Given the description of an element on the screen output the (x, y) to click on. 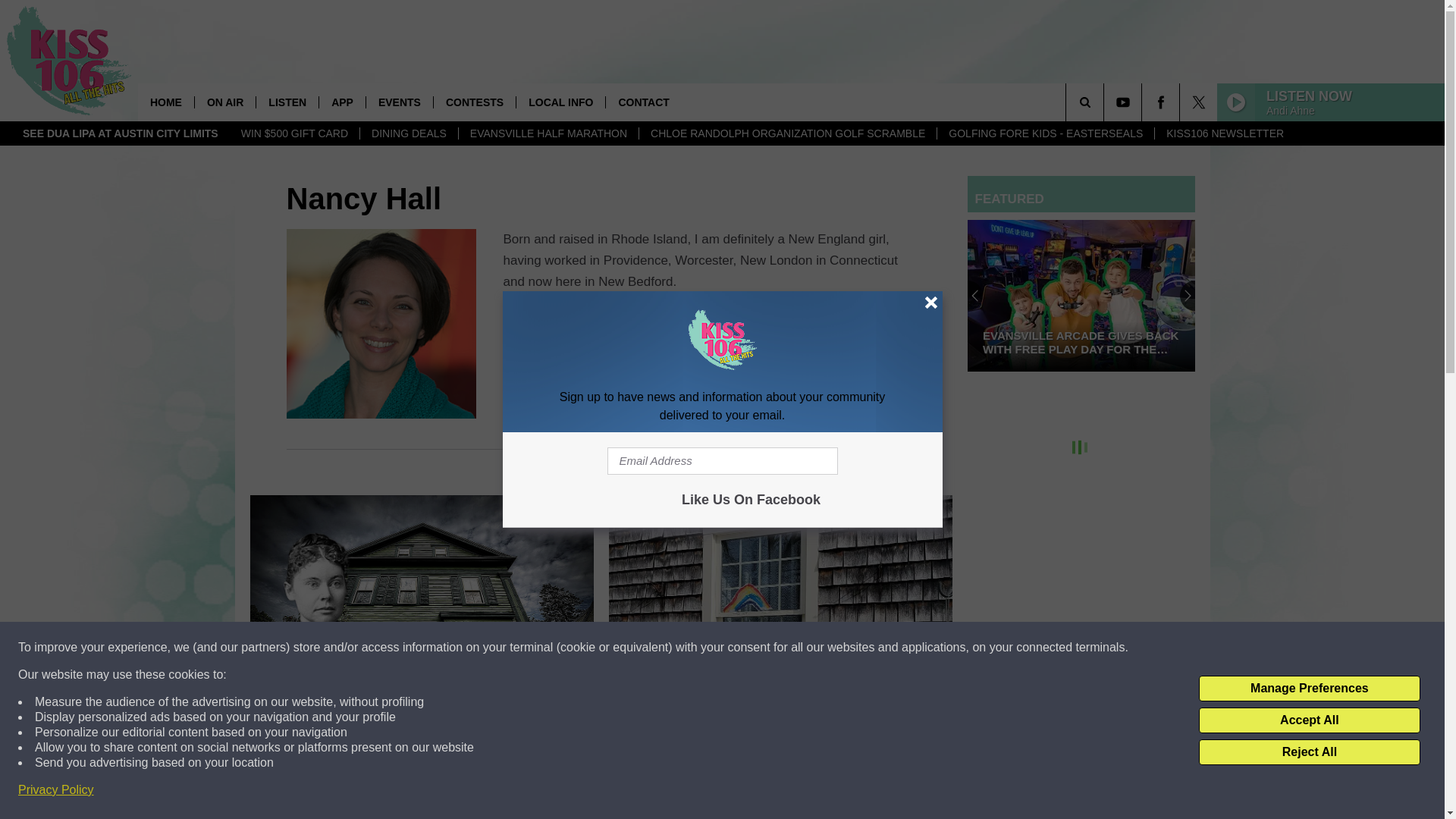
KISS106 NEWSLETTER (1224, 133)
GOLFING FORE KIDS - EASTERSEALS (1045, 133)
SEARCH (1106, 102)
DINING DEALS (408, 133)
ON AIR (224, 102)
Reject All (1309, 751)
CHLOE RANDOLPH ORGANIZATION GOLF SCRAMBLE (787, 133)
LISTEN (287, 102)
SEE DUA LIPA AT AUSTIN CITY LIMITS (120, 133)
Privacy Policy (55, 789)
HOME (165, 102)
Accept All (1309, 720)
APP (341, 102)
EVANSVILLE HALF MARATHON (548, 133)
Manage Preferences (1309, 688)
